Given the description of an element on the screen output the (x, y) to click on. 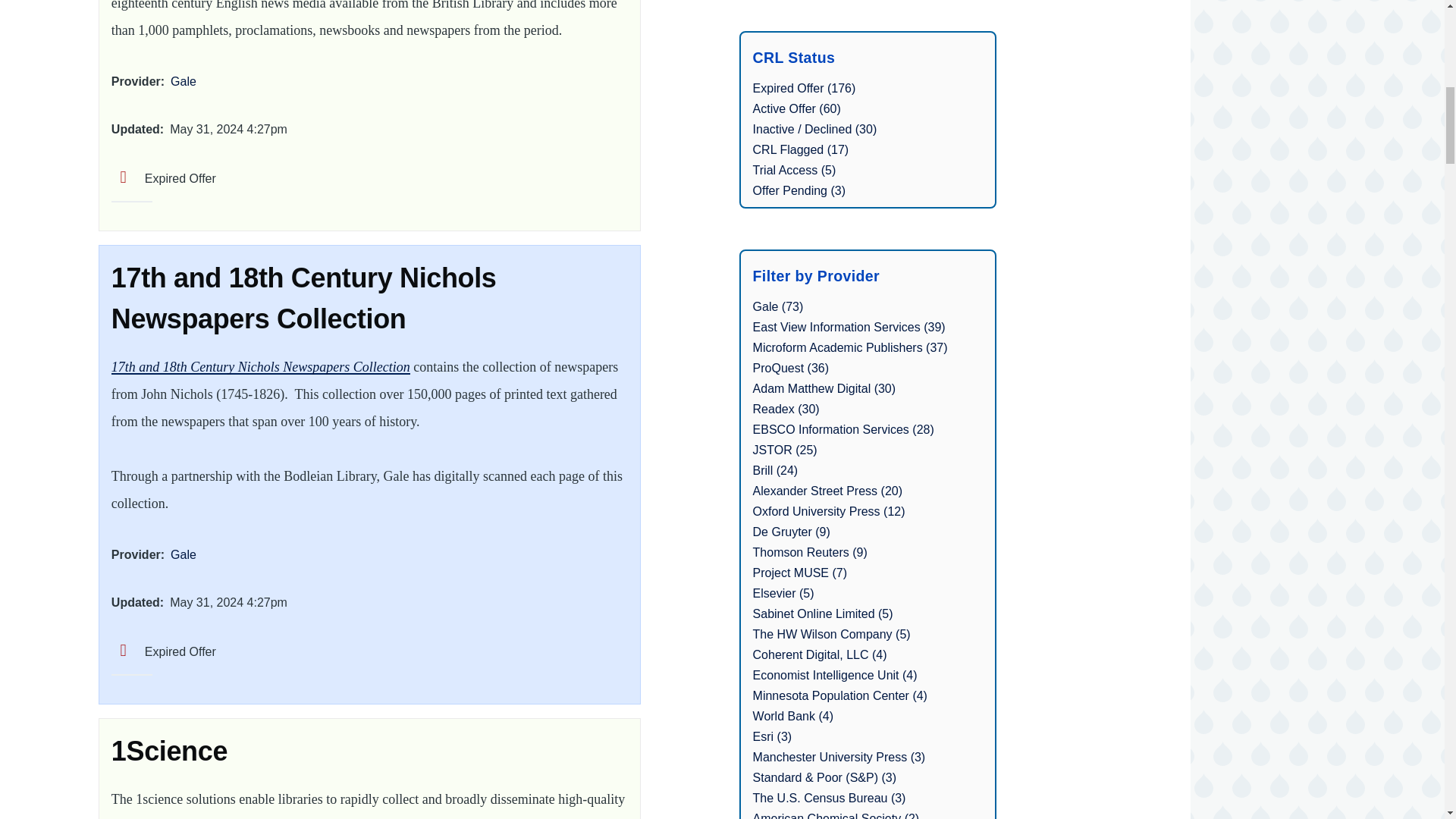
Expired Offer (163, 178)
Expired Offer (163, 651)
